Given the description of an element on the screen output the (x, y) to click on. 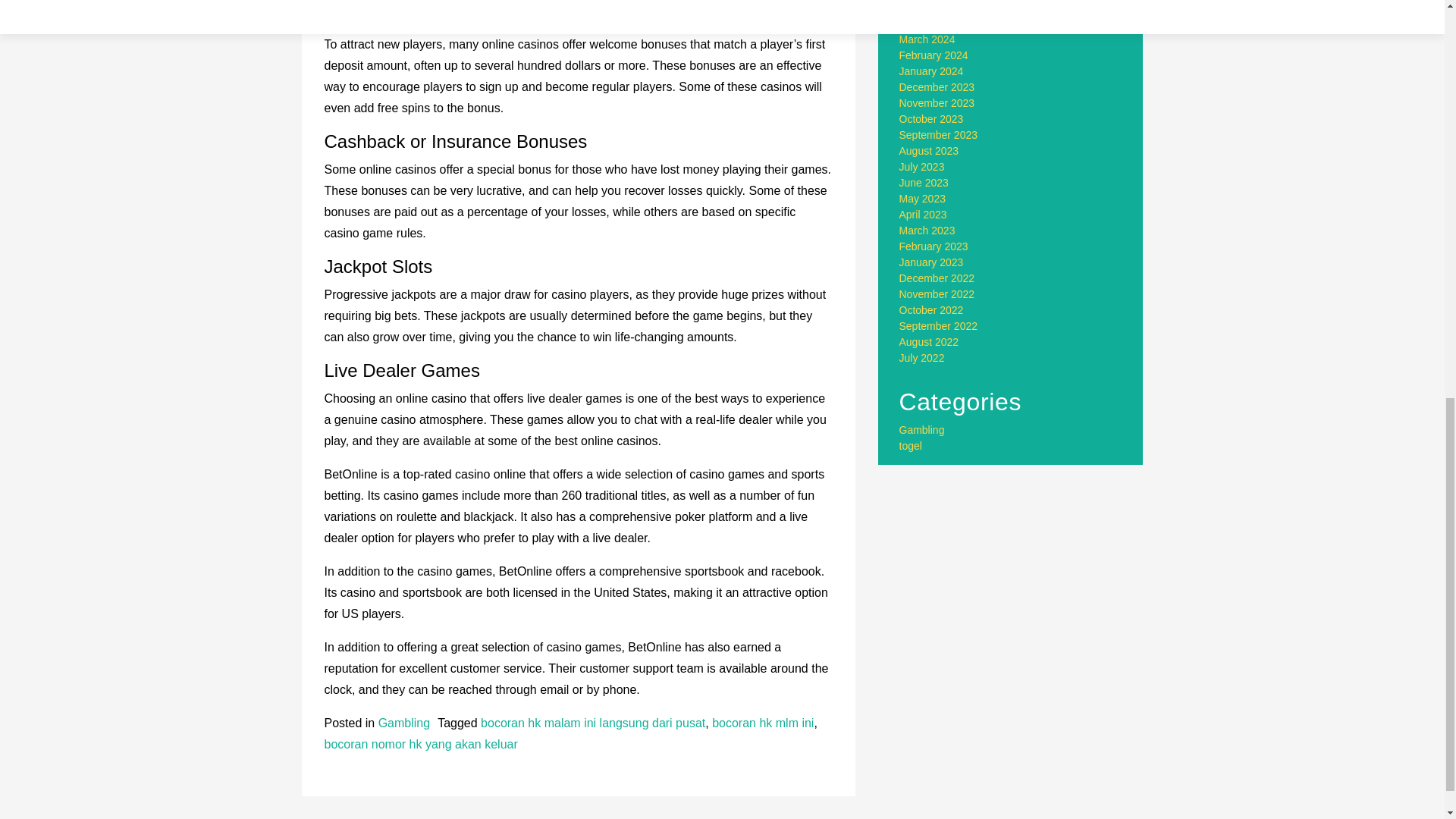
May 2023 (921, 198)
May 2024 (921, 7)
January 2024 (931, 70)
bocoran hk malam ini langsung dari pusat (592, 722)
bocoran nomor hk yang akan keluar (421, 744)
March 2024 (927, 39)
November 2023 (937, 102)
February 2024 (933, 55)
September 2023 (938, 134)
April 2024 (923, 23)
August 2023 (929, 150)
Gambling (403, 722)
December 2022 (937, 277)
April 2023 (923, 214)
February 2023 (933, 246)
